Given the description of an element on the screen output the (x, y) to click on. 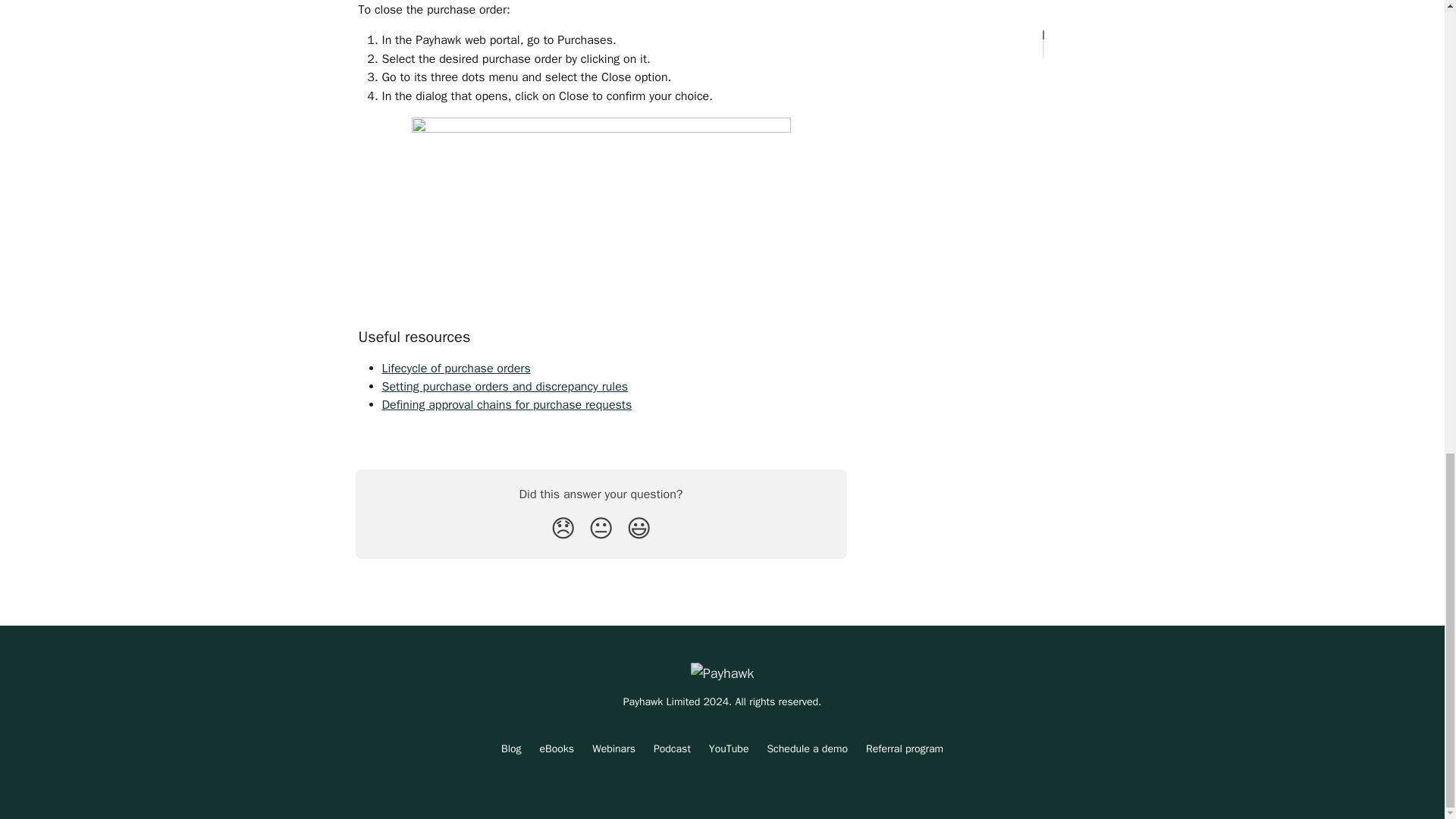
eBooks (557, 748)
YouTube (729, 748)
Webinars (613, 748)
Referral program (904, 748)
Blog (510, 748)
Setting purchase orders and discrepancy rules (504, 386)
Lifecycle of purchase orders (456, 368)
Schedule a demo (807, 748)
Defining approval chains for purchase requests (506, 404)
Podcast (671, 748)
